Given the description of an element on the screen output the (x, y) to click on. 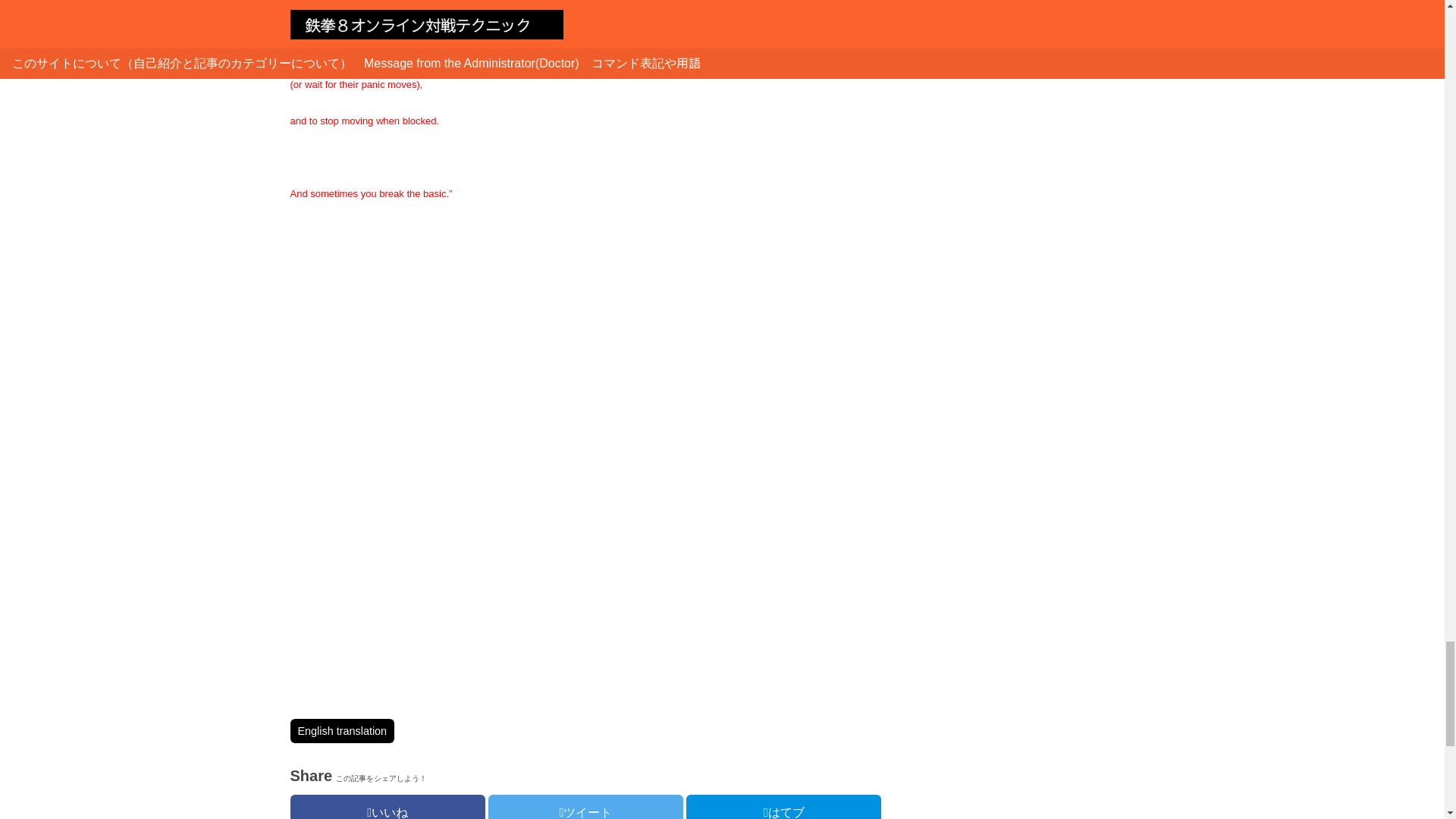
English translation (341, 730)
English translation (341, 730)
